Given the description of an element on the screen output the (x, y) to click on. 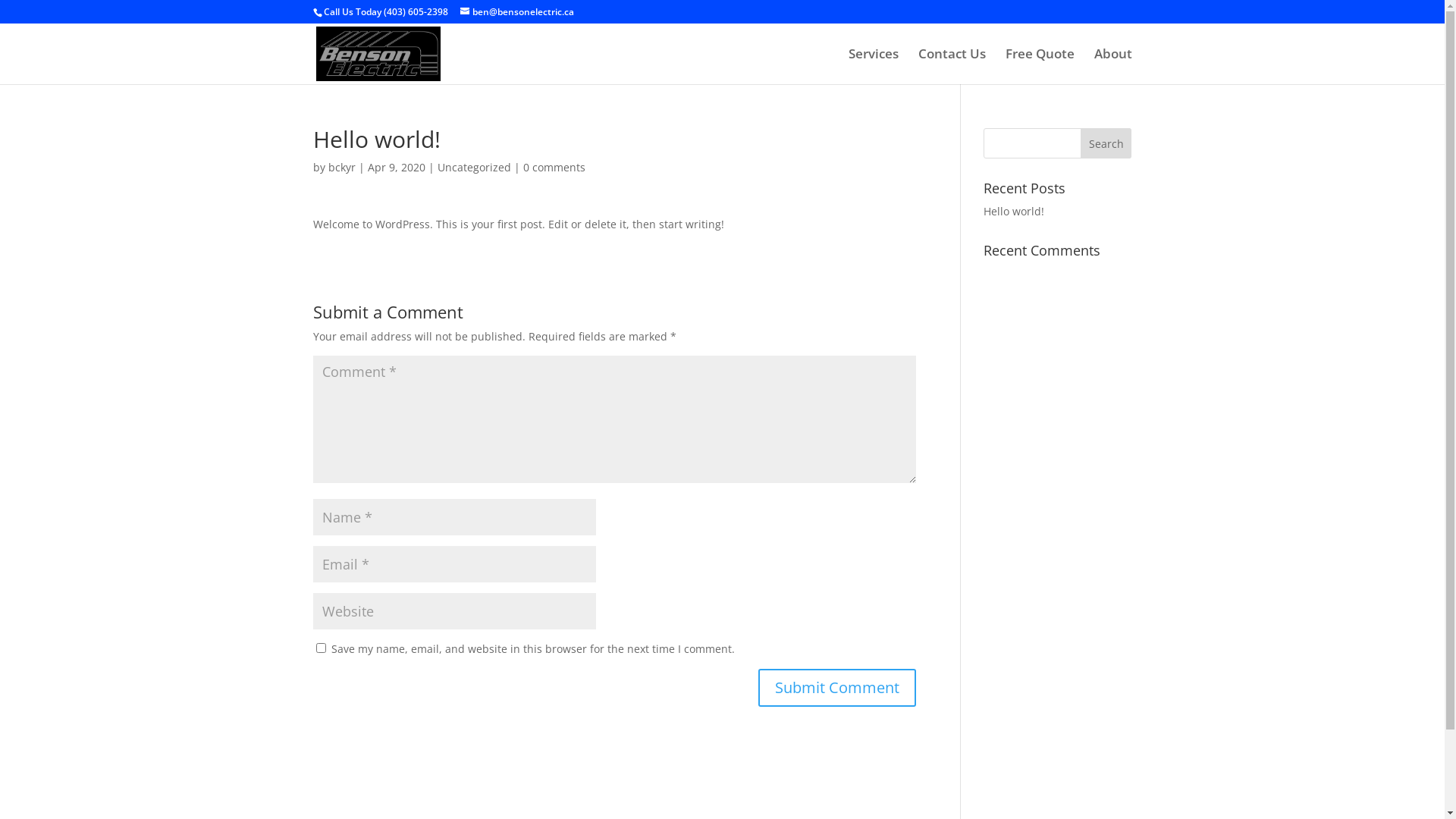
Hello world! Element type: text (1013, 210)
Uncategorized Element type: text (473, 167)
Services Element type: text (872, 66)
Search Element type: text (1106, 143)
0 comments Element type: text (554, 167)
ben@bensonelectric.ca Element type: text (516, 11)
Free Quote Element type: text (1039, 66)
bckyr Element type: text (340, 167)
About Element type: text (1112, 66)
Contact Us Element type: text (951, 66)
Submit Comment Element type: text (837, 687)
